Given the description of an element on the screen output the (x, y) to click on. 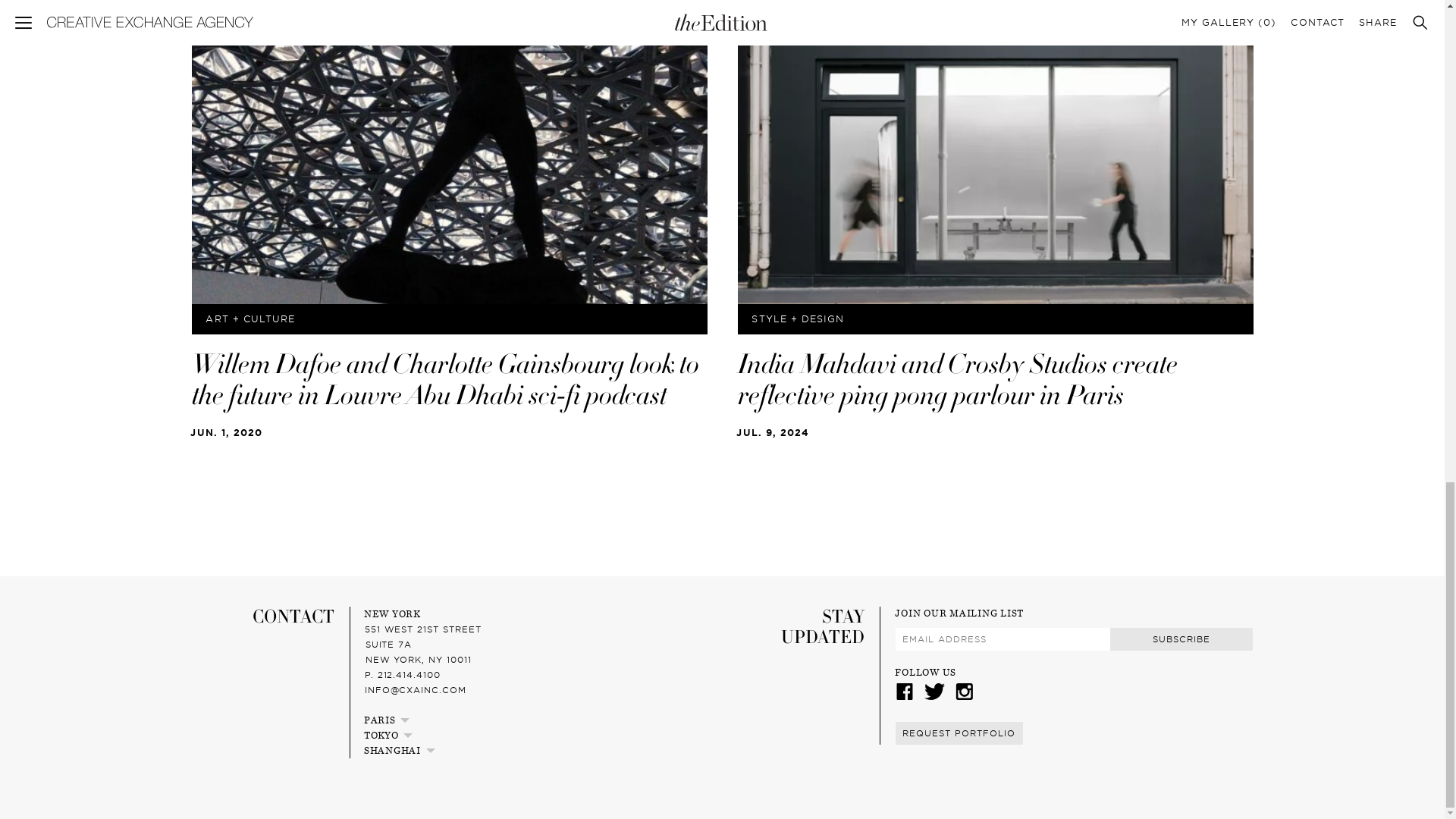
REQUEST PORTFOLIO (958, 732)
REQUEST PORTFOLIO (958, 731)
Subscribe (1181, 639)
Subscribe (1181, 639)
